Given the description of an element on the screen output the (x, y) to click on. 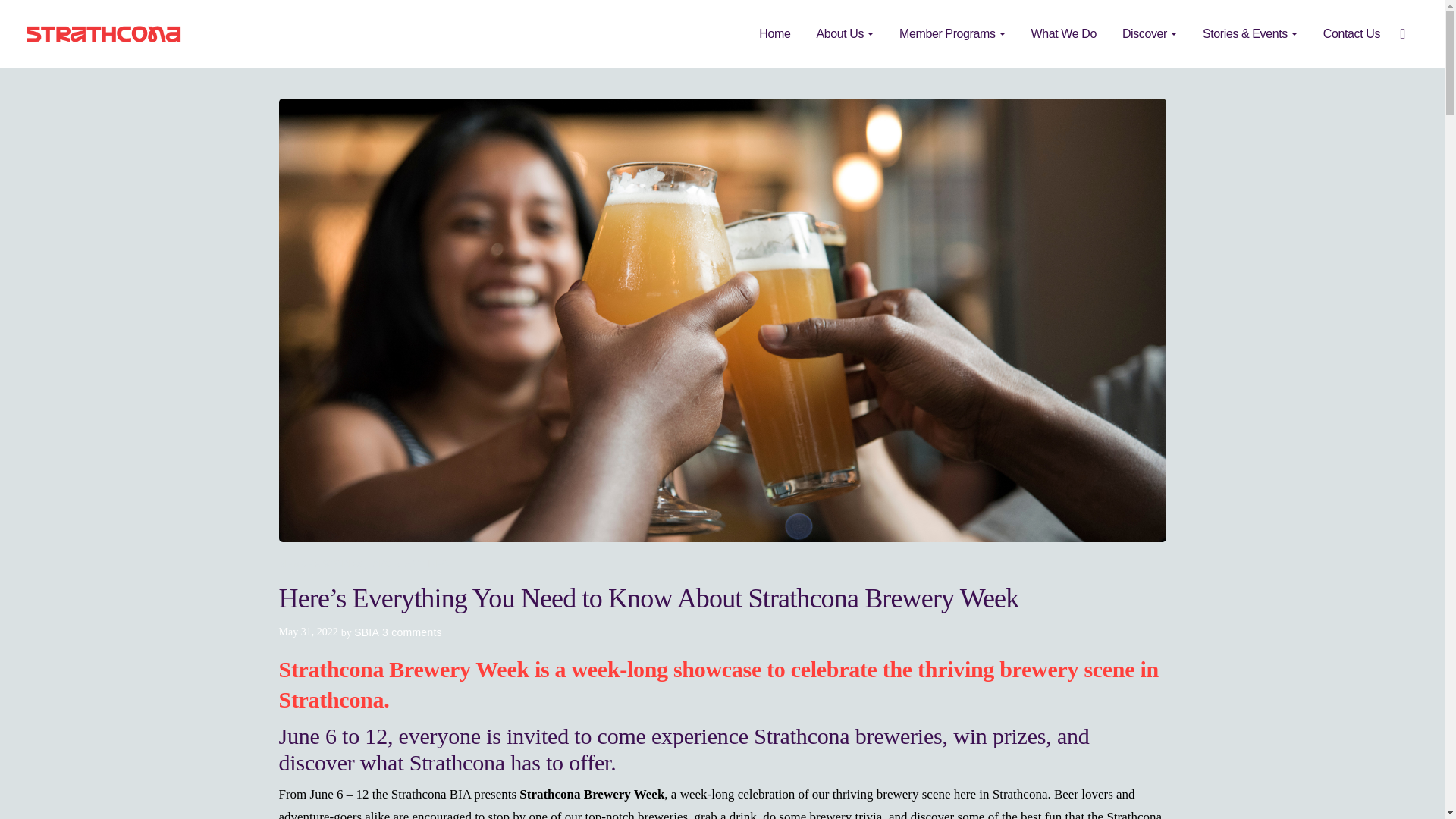
Member Programs (951, 34)
Discover (1149, 34)
What We Do (1063, 34)
Contact Us (1351, 34)
About Us (844, 34)
Home (774, 34)
